Given the description of an element on the screen output the (x, y) to click on. 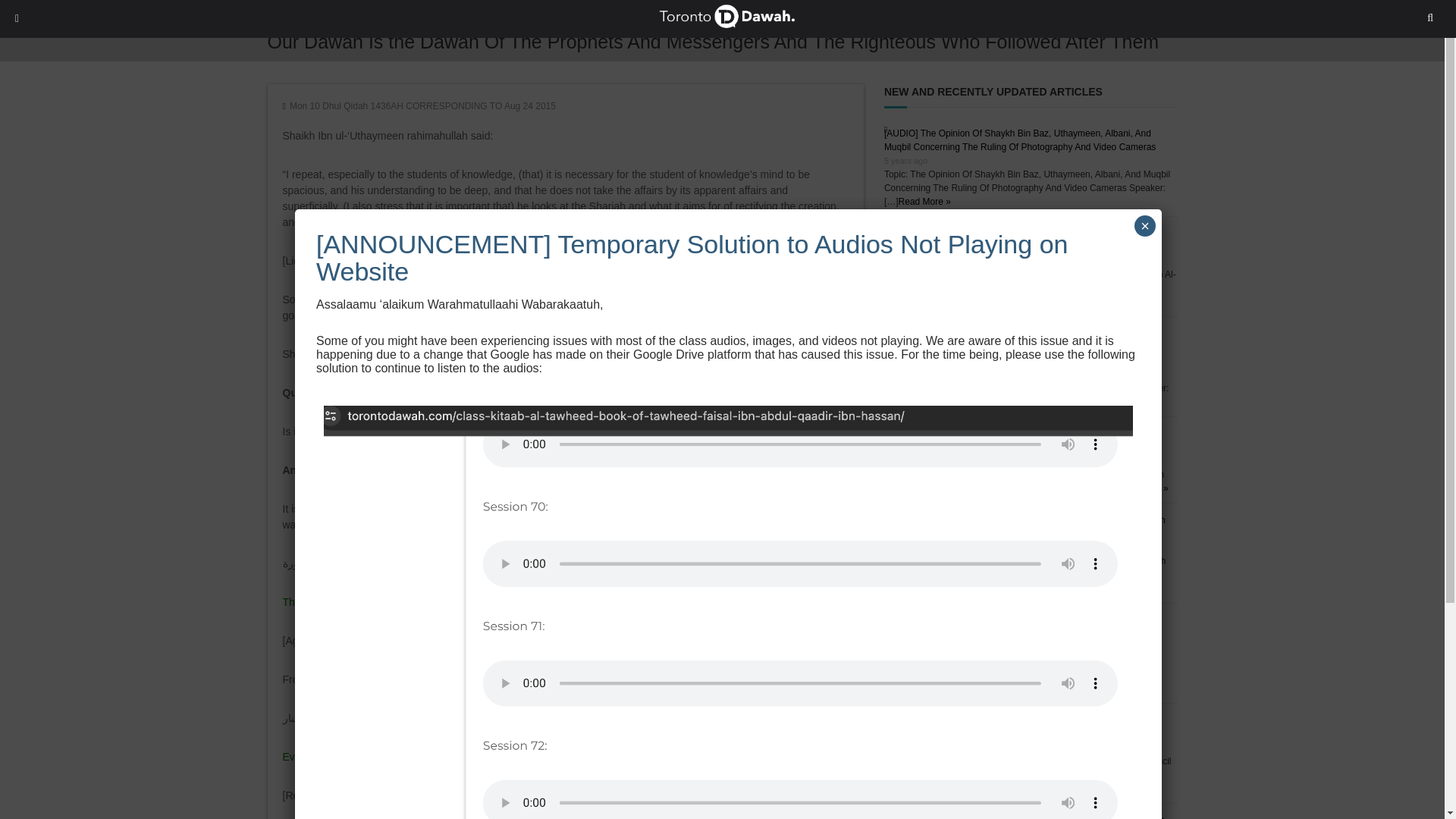
Mon 10 Dhul Qidah 1436AH CORRESPONDING TO Aug 24 2015 (422, 104)
